Given the description of an element on the screen output the (x, y) to click on. 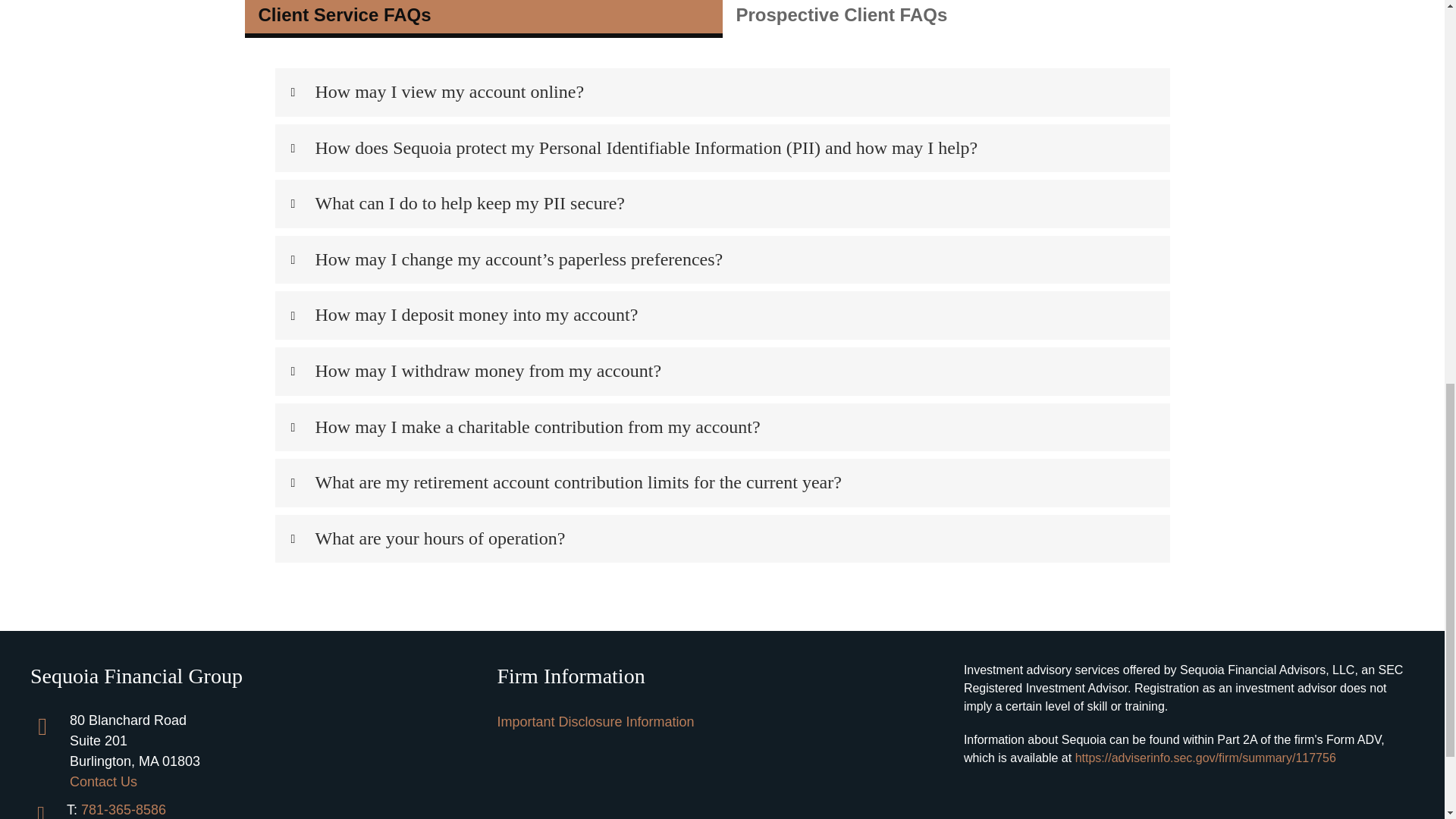
Important Disclosure Information (595, 721)
781-365-8586 (123, 809)
Contact Us (102, 780)
